Given the description of an element on the screen output the (x, y) to click on. 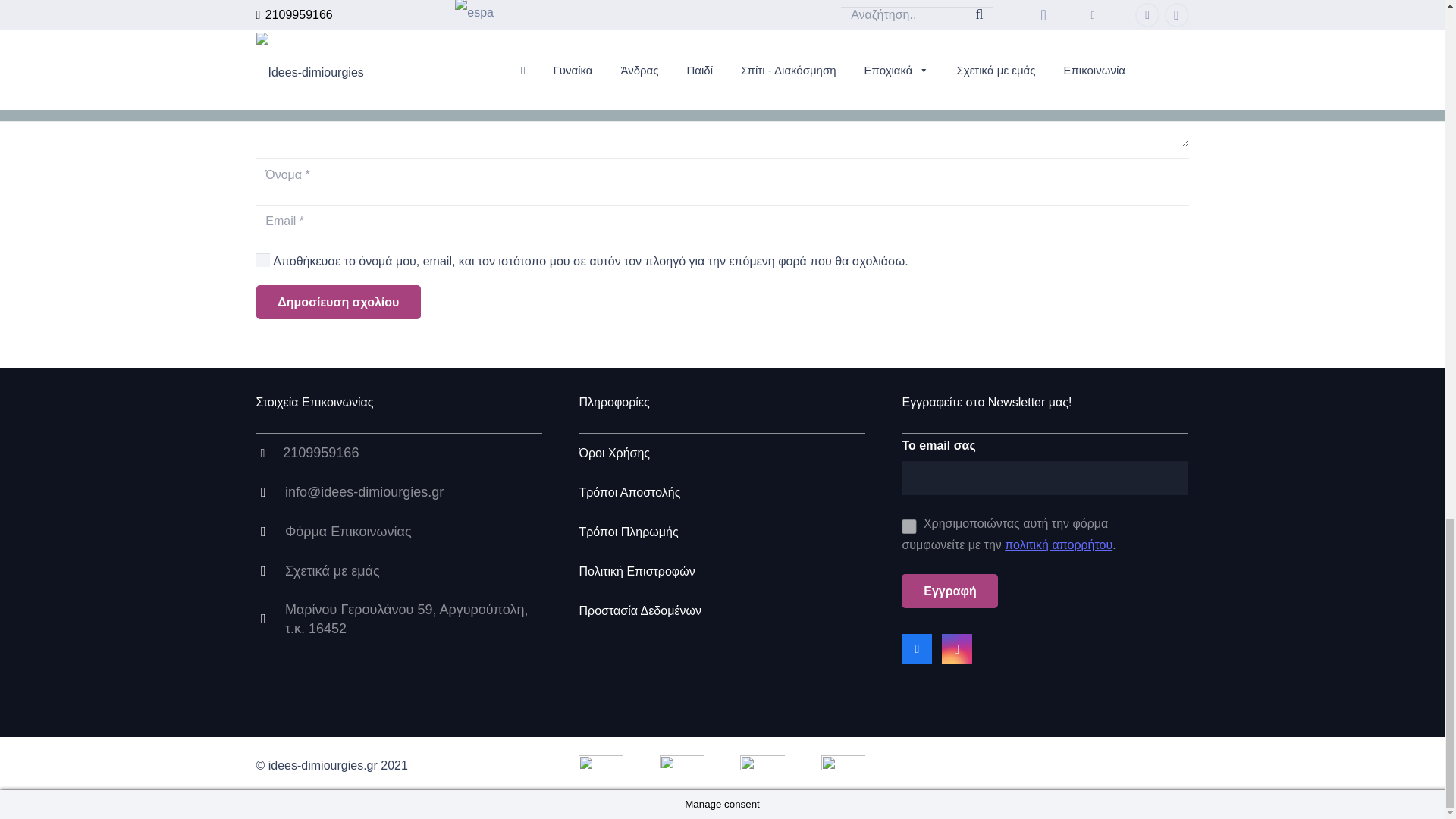
1 (261, 259)
Instagram (957, 648)
Facebook (916, 648)
1 (908, 526)
